Given the description of an element on the screen output the (x, y) to click on. 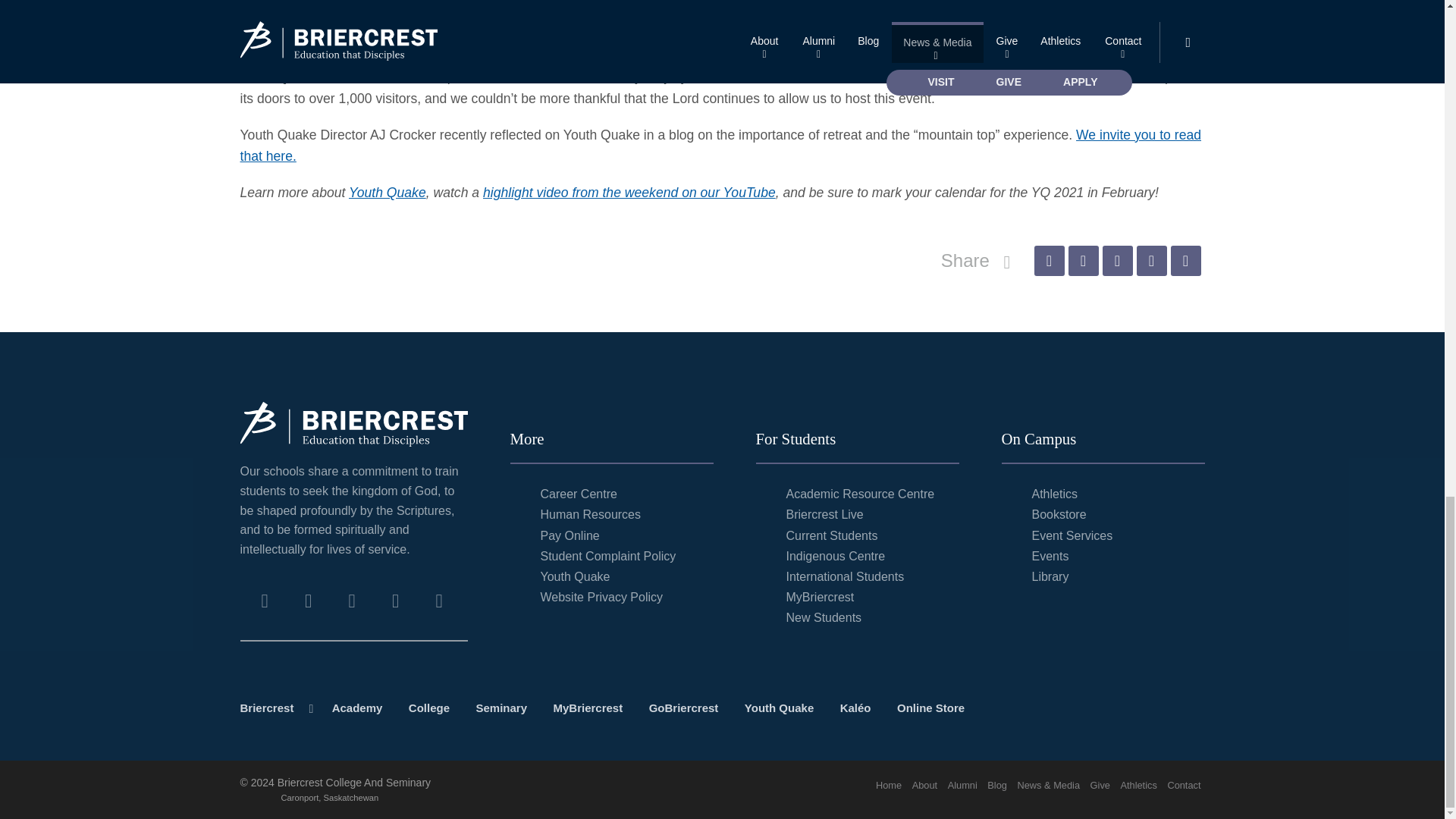
share this to my Facebook page (1048, 260)
share this to my Twitter account (1082, 260)
share this to Pinterest (1117, 260)
share this to LinkedIn (1150, 260)
